Given the description of an element on the screen output the (x, y) to click on. 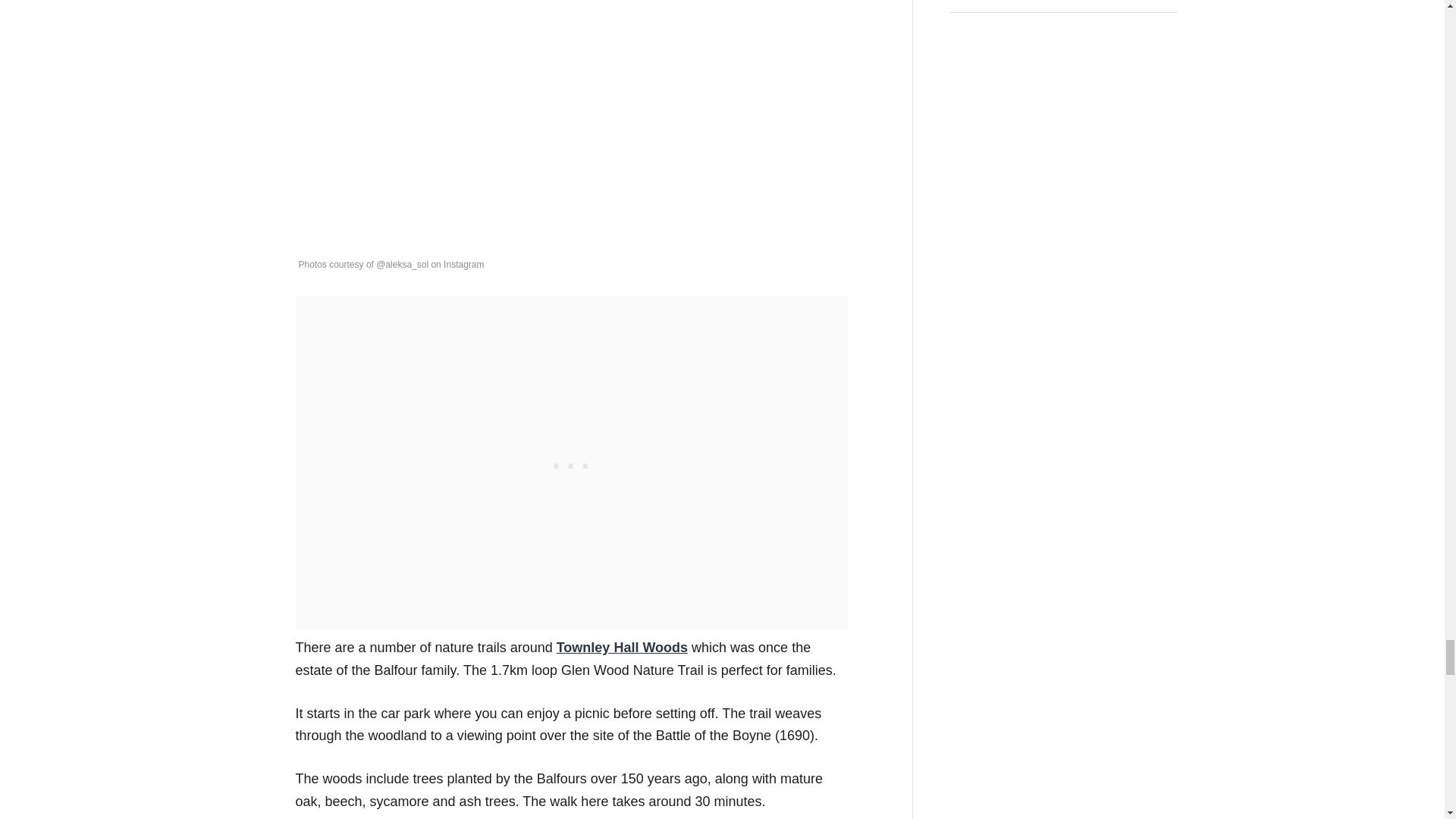
Townley Hall Woods (621, 647)
